Given the description of an element on the screen output the (x, y) to click on. 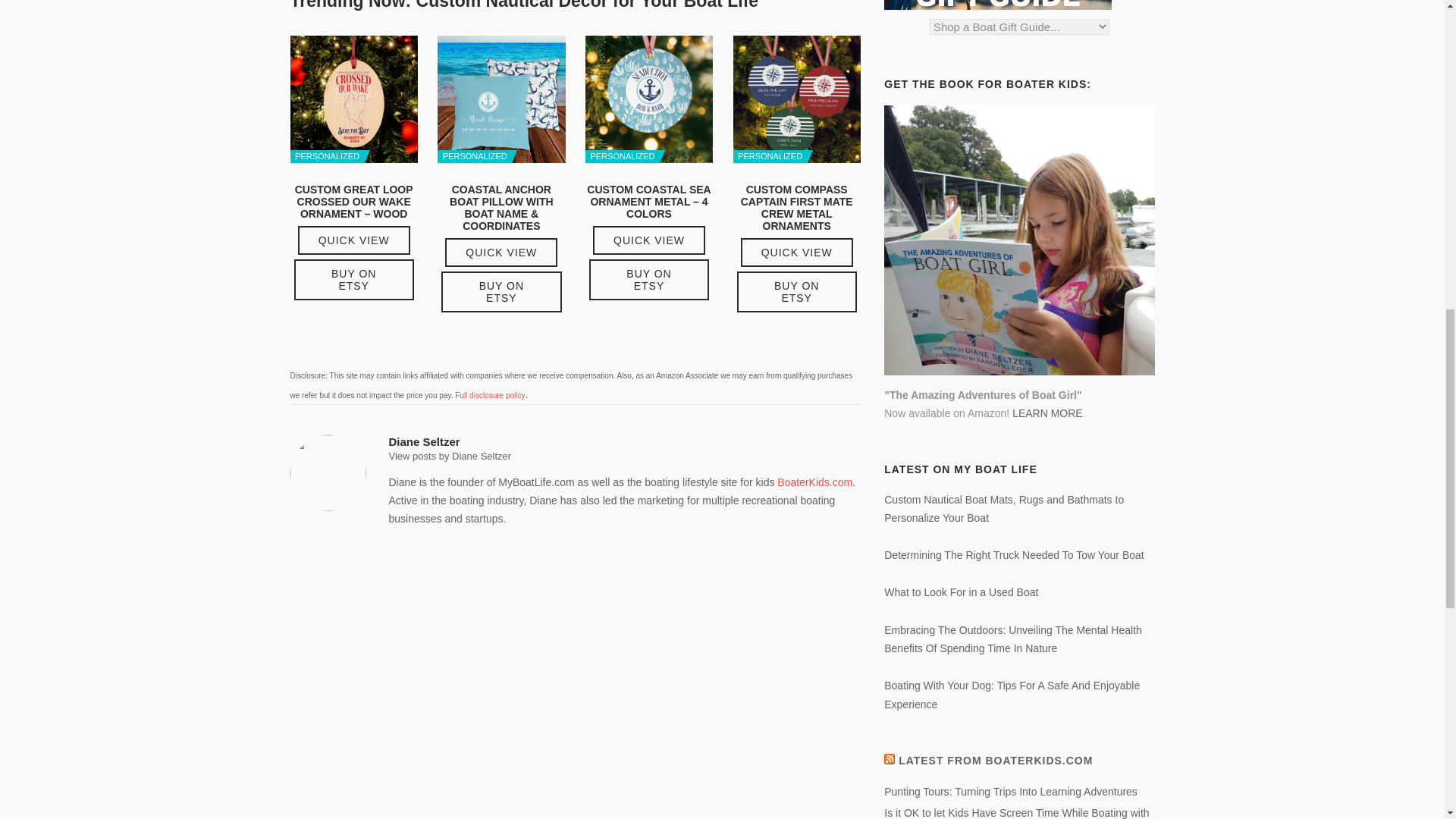
Now available on Amazon in paperback! (1018, 240)
